Given the description of an element on the screen output the (x, y) to click on. 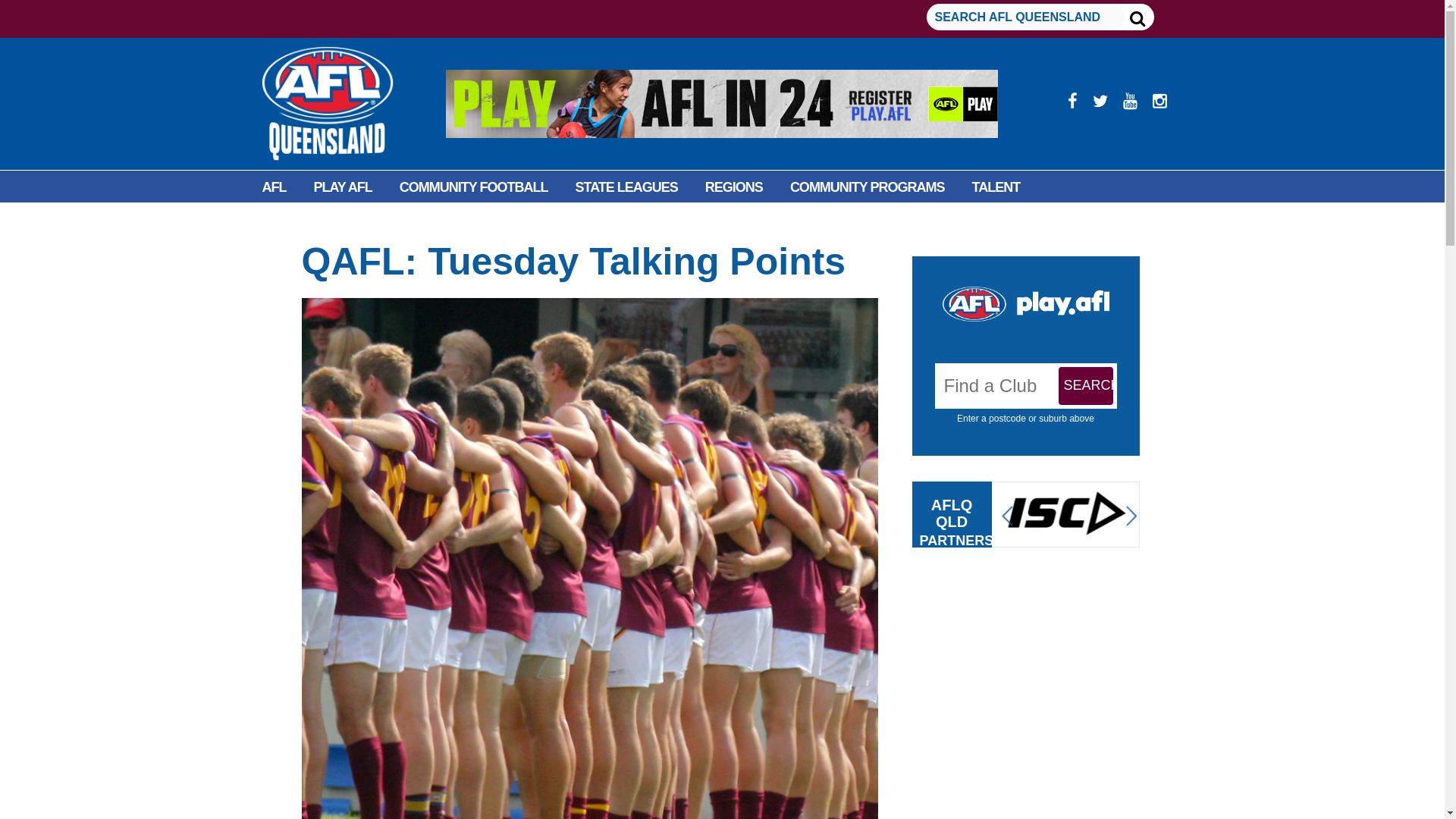
AFL (273, 187)
PLAY AFL (342, 187)
REGIONS (733, 187)
FACILITIES (295, 221)
Search (1085, 385)
Search (1085, 385)
COMMUNITY PROGRAMS (867, 187)
TALENT (995, 187)
STATE LEAGUES (626, 187)
INFORMATION HUB (414, 221)
COMMUNITY FOOTBALL (473, 187)
